Given the description of an element on the screen output the (x, y) to click on. 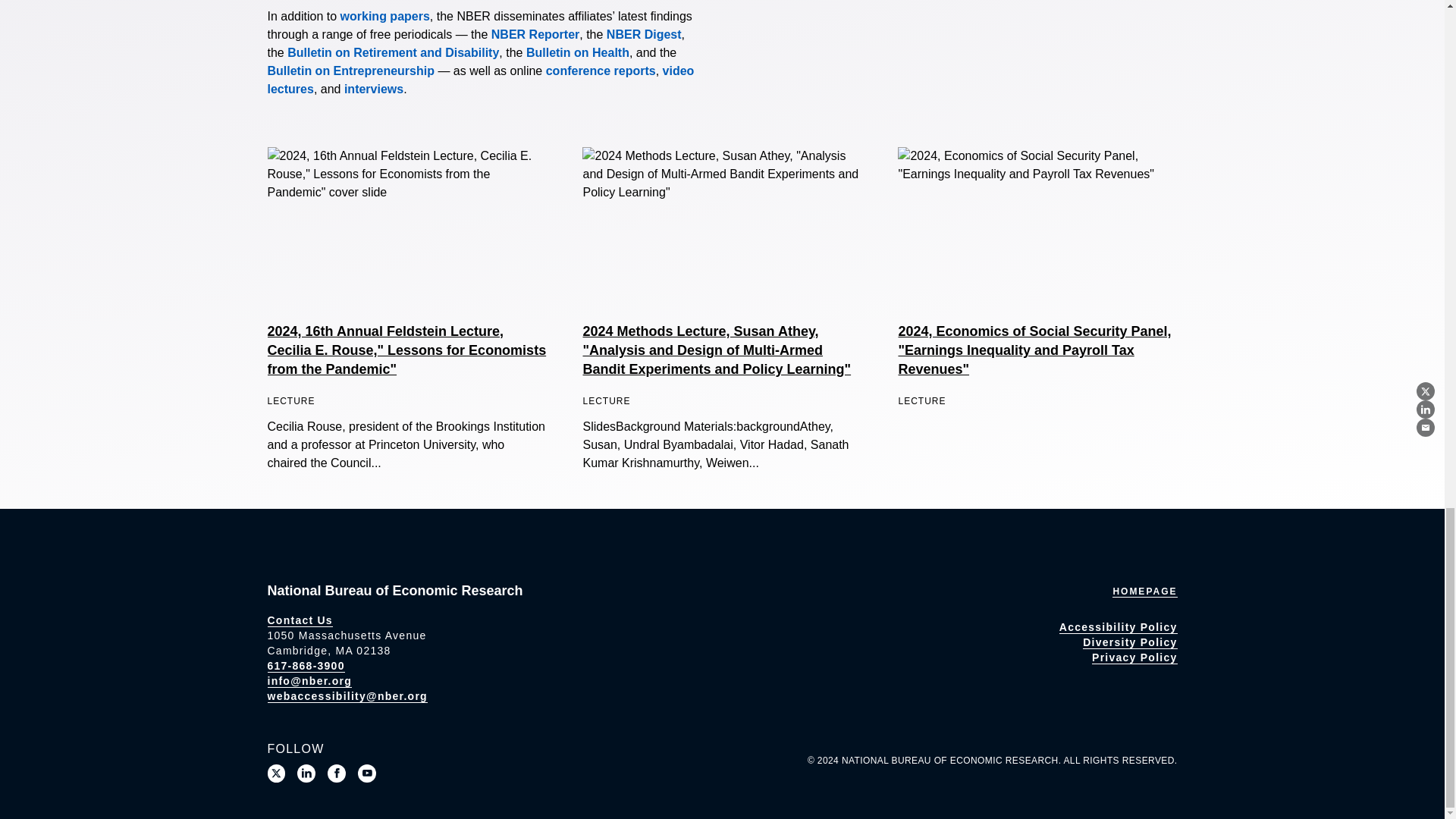
Lectures (480, 79)
Working Papers (384, 15)
Conferences (601, 70)
Research Spotlights (373, 88)
